Given the description of an element on the screen output the (x, y) to click on. 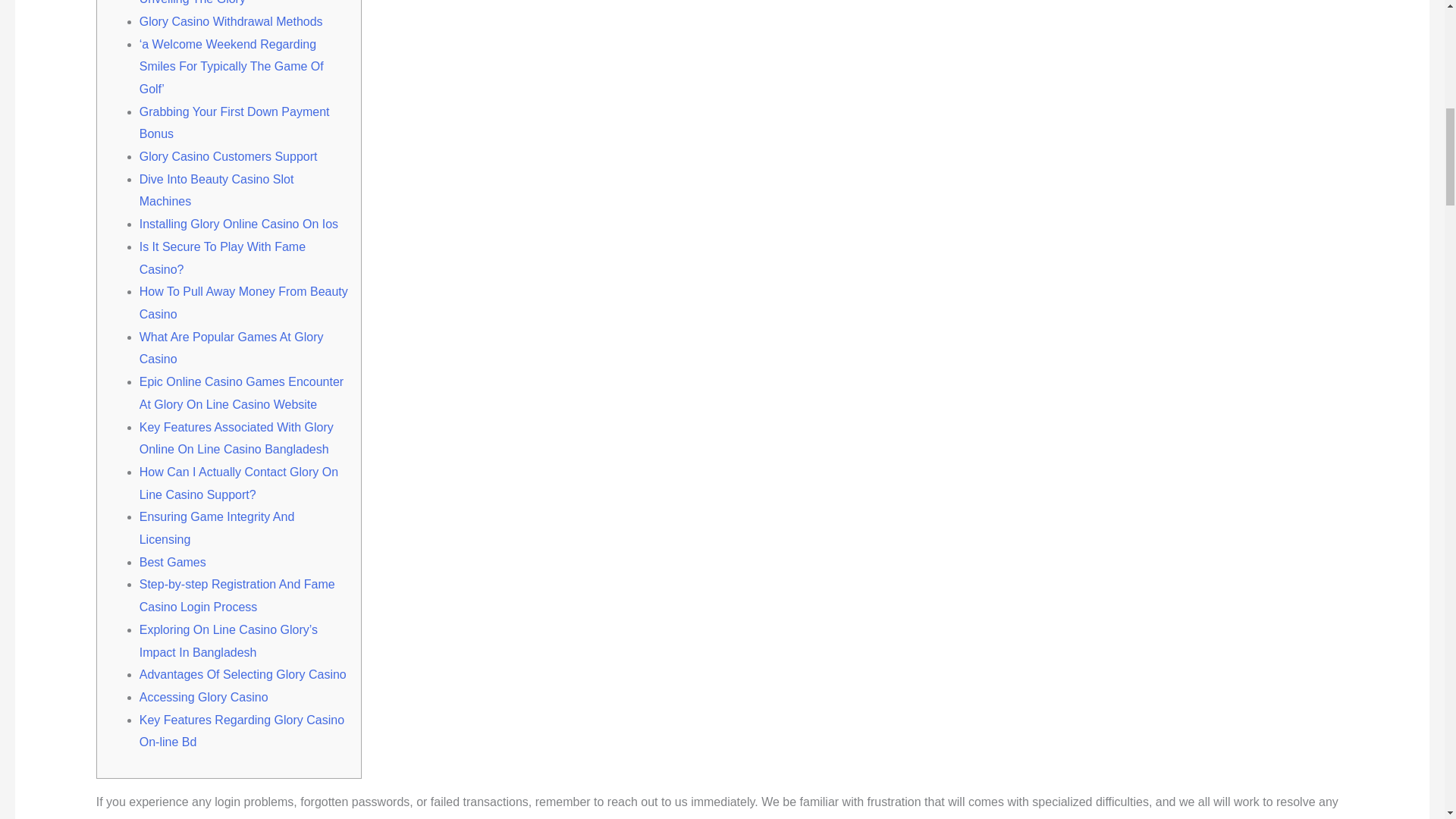
Glory Casino Withdrawal Methods (231, 21)
Grabbing Your First Down Payment Bonus (234, 122)
